Given the description of an element on the screen output the (x, y) to click on. 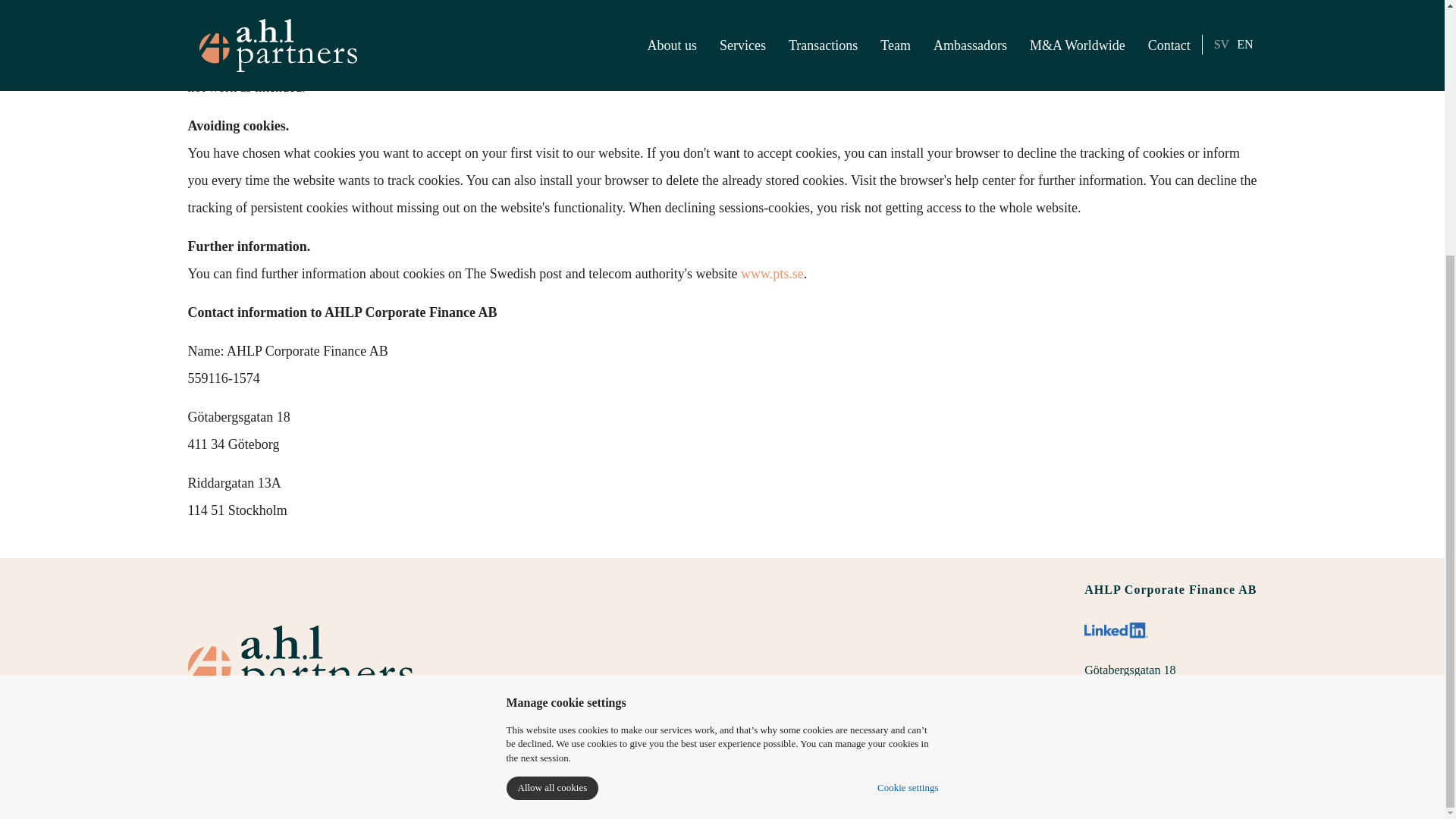
Cookies (1240, 799)
www.pts.se (772, 273)
Integrity policy (1181, 799)
Allow all cookies (552, 425)
